Given the description of an element on the screen output the (x, y) to click on. 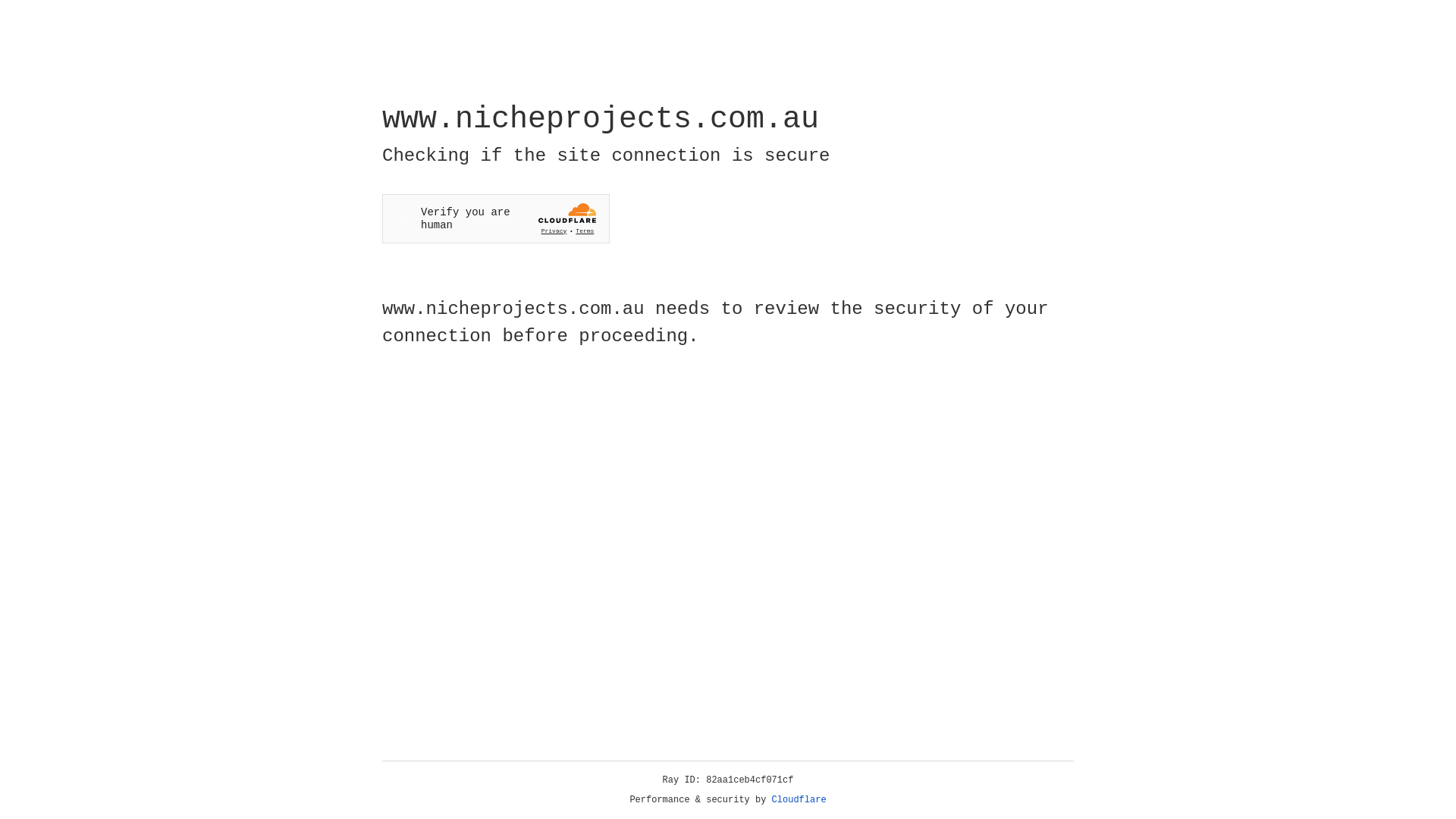
Widget containing a Cloudflare security challenge Element type: hover (495, 218)
Cloudflare Element type: text (798, 799)
